Given the description of an element on the screen output the (x, y) to click on. 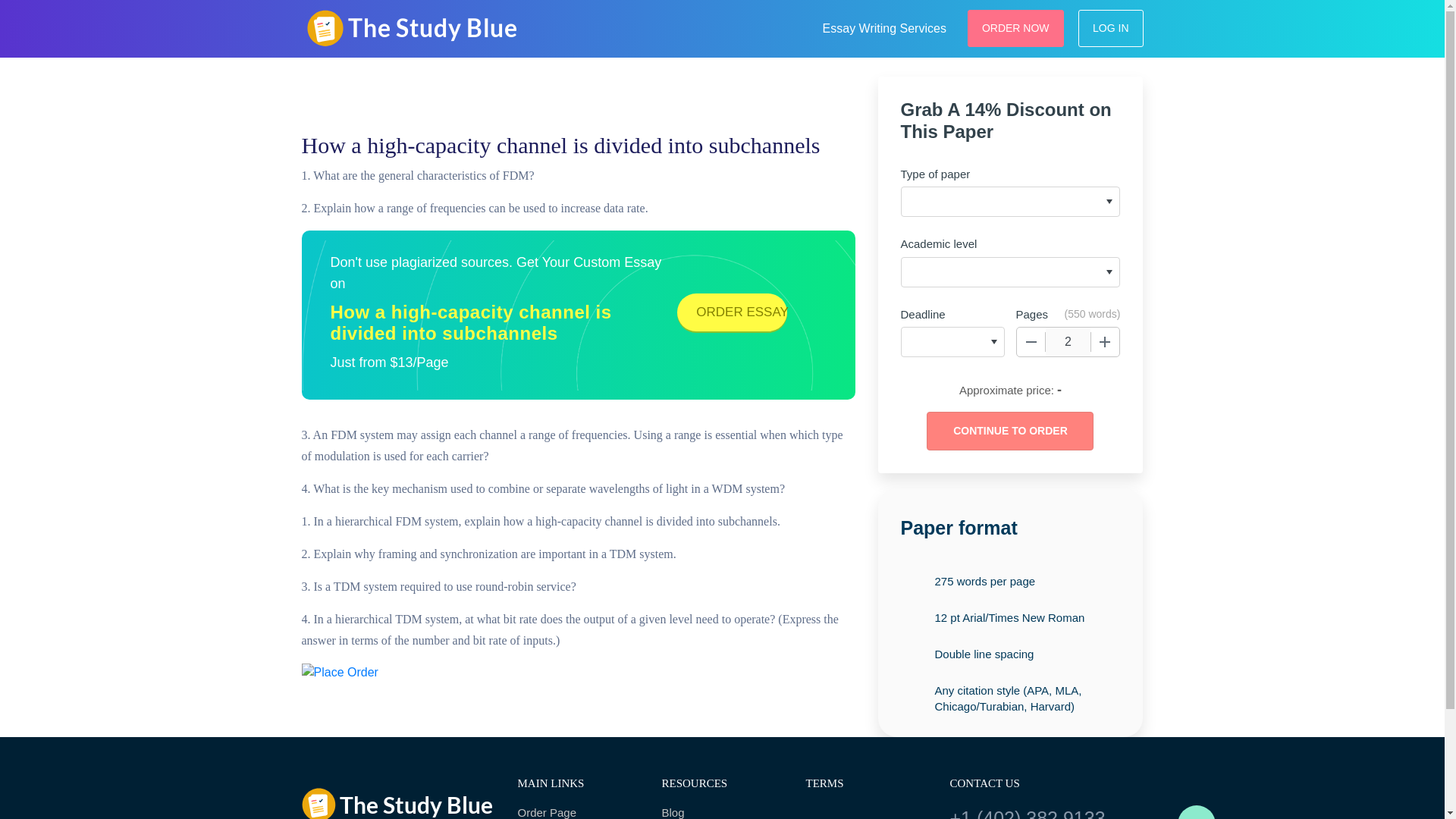
Blog (722, 811)
Order Page (577, 811)
Increase (1104, 341)
Essay Writing Services (884, 26)
LOG IN (1110, 27)
Essay Writing Services (884, 26)
Blog (722, 811)
2 (1067, 341)
Decrease (1030, 341)
Continue to order (1009, 430)
ORDER NOW (1016, 27)
ORDER ESSAY (732, 312)
Continue to order (1009, 430)
Order Page (577, 811)
Place Order (339, 672)
